Given the description of an element on the screen output the (x, y) to click on. 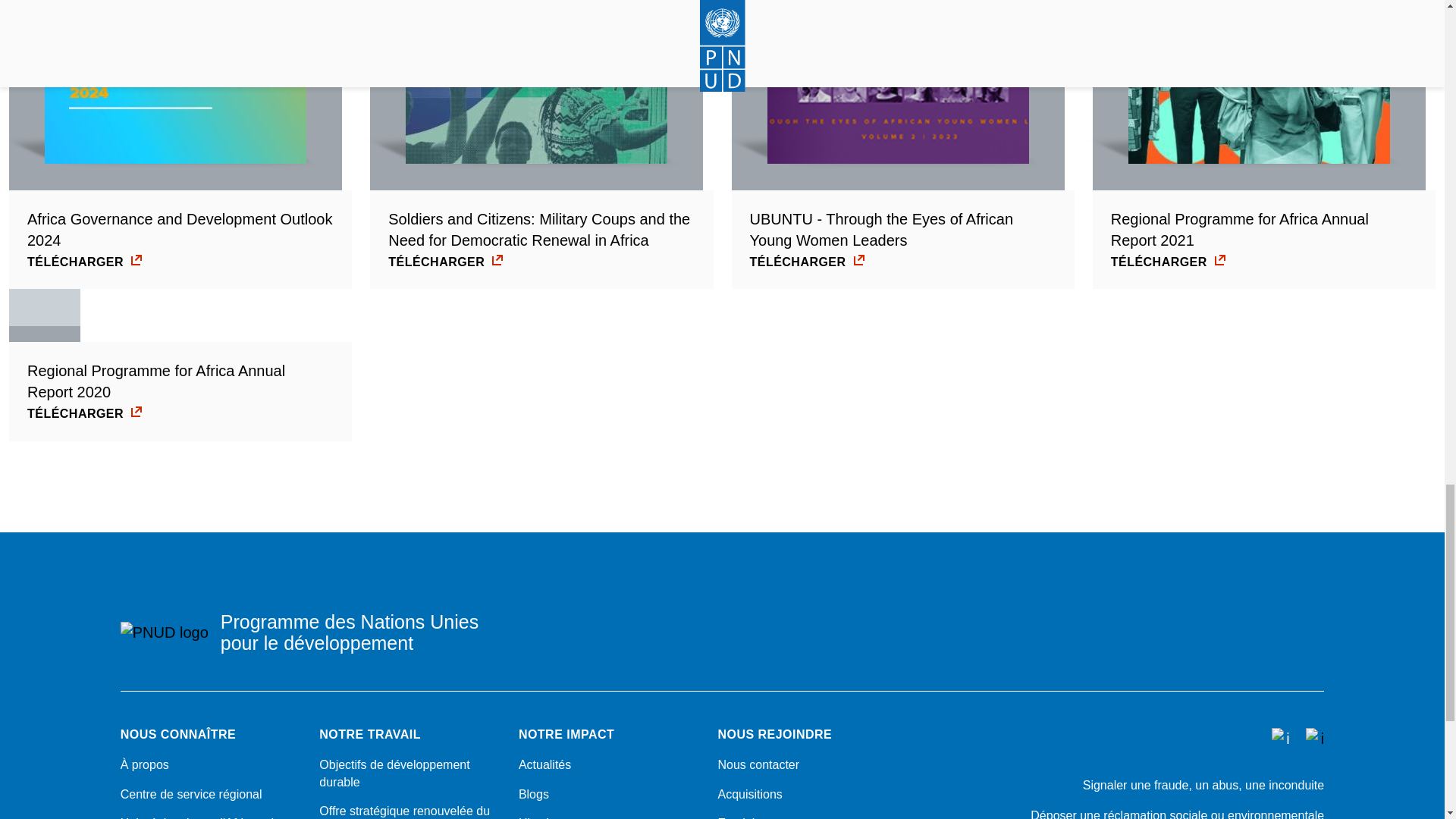
NOTRE TRAVAIL (409, 735)
